Given the description of an element on the screen output the (x, y) to click on. 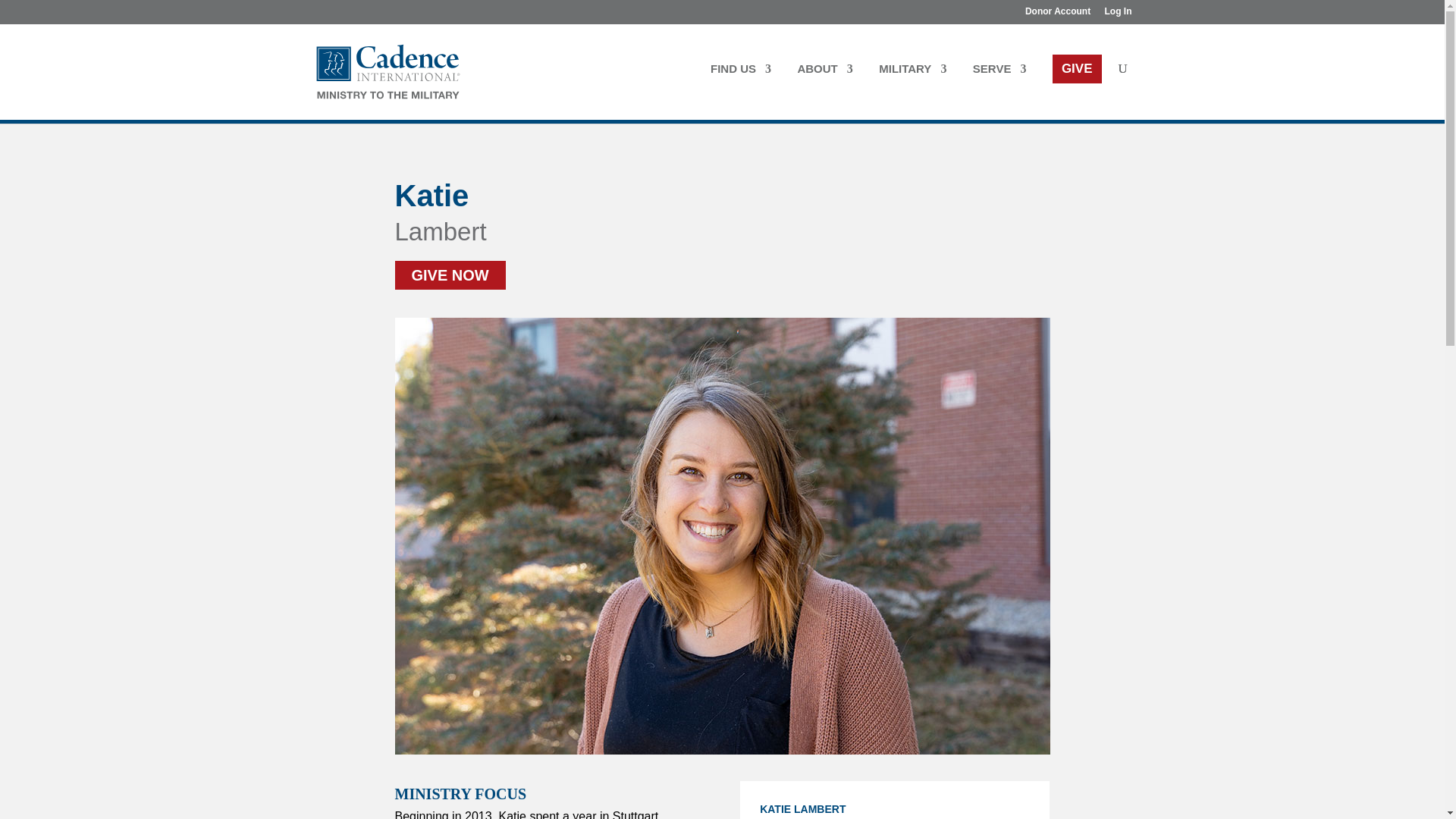
MILITARY (912, 87)
ABOUT (823, 87)
Log In (1117, 14)
FIND US (740, 87)
SERVE (999, 87)
Donor Account (1057, 14)
